Given the description of an element on the screen output the (x, y) to click on. 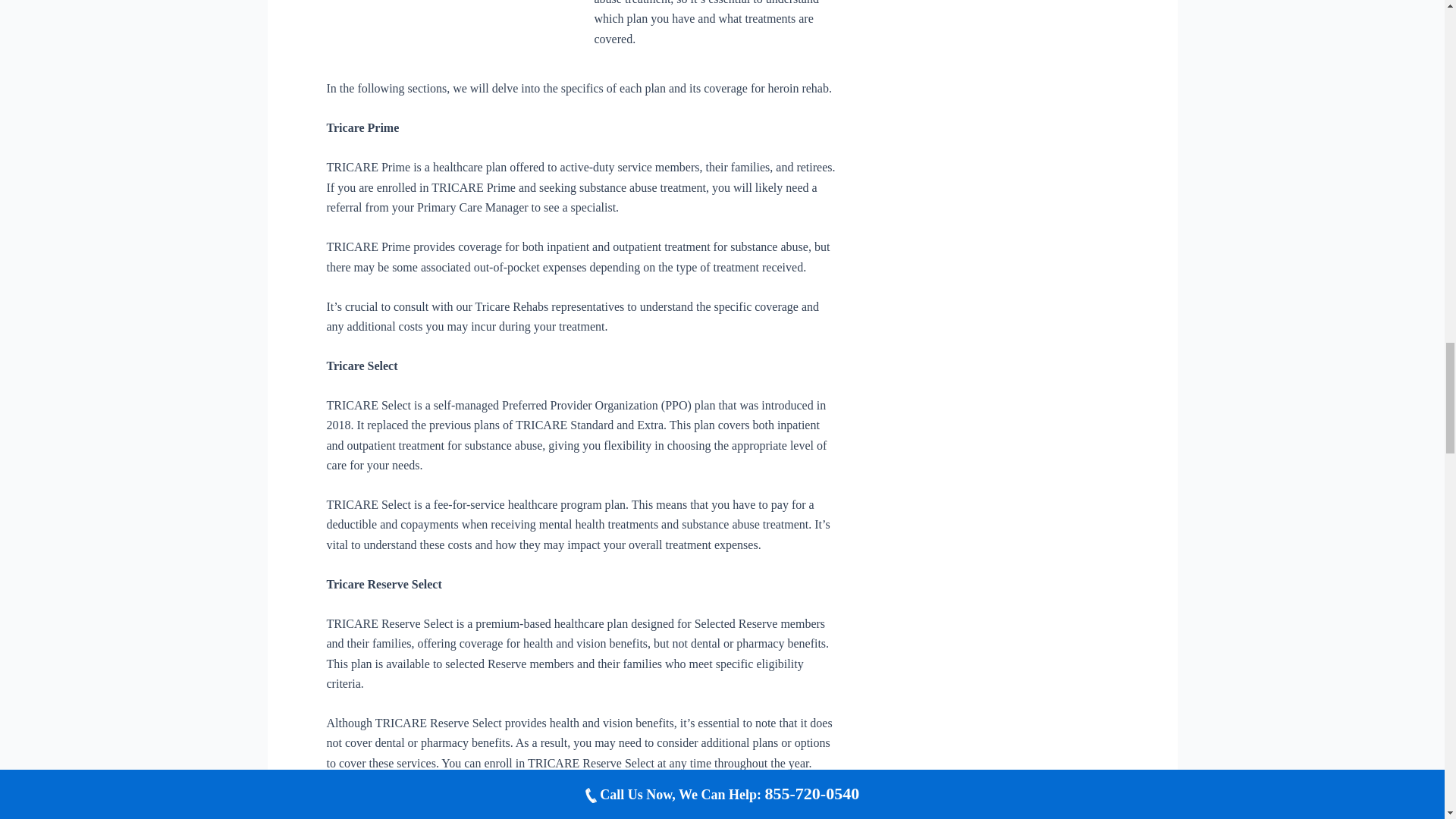
Understanding 2 (448, 26)
